Given the description of an element on the screen output the (x, y) to click on. 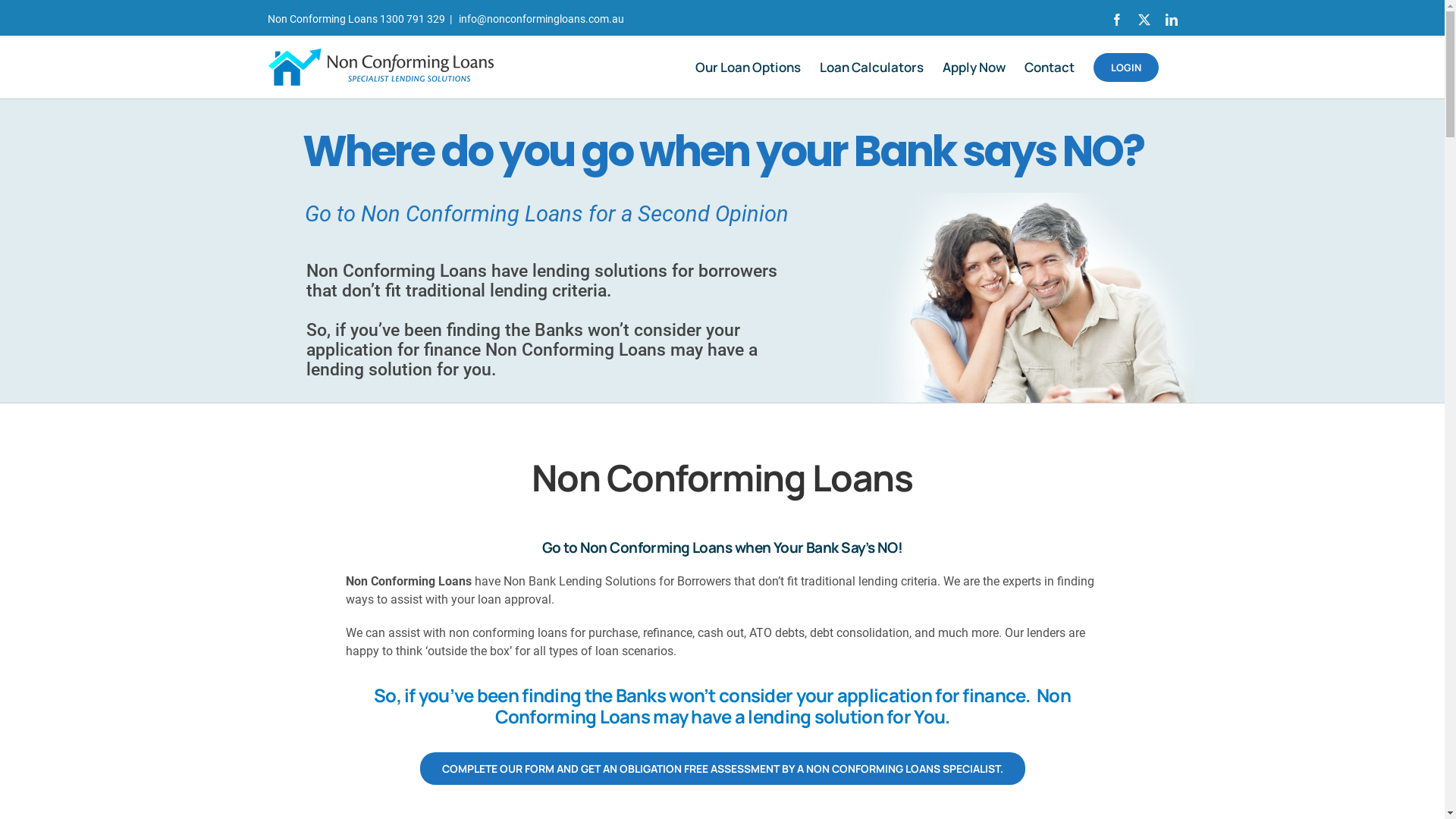
Contact Element type: text (1048, 66)
LinkedIn Element type: text (1170, 19)
info@nonconformingloans.com.au Element type: text (540, 18)
LOGIN Element type: text (1125, 66)
Loan Calculators Element type: text (870, 66)
Facebook Element type: text (1116, 19)
Apply Now Element type: text (972, 66)
Twitter Element type: text (1143, 19)
Our Loan Options Element type: text (747, 66)
